Given the description of an element on the screen output the (x, y) to click on. 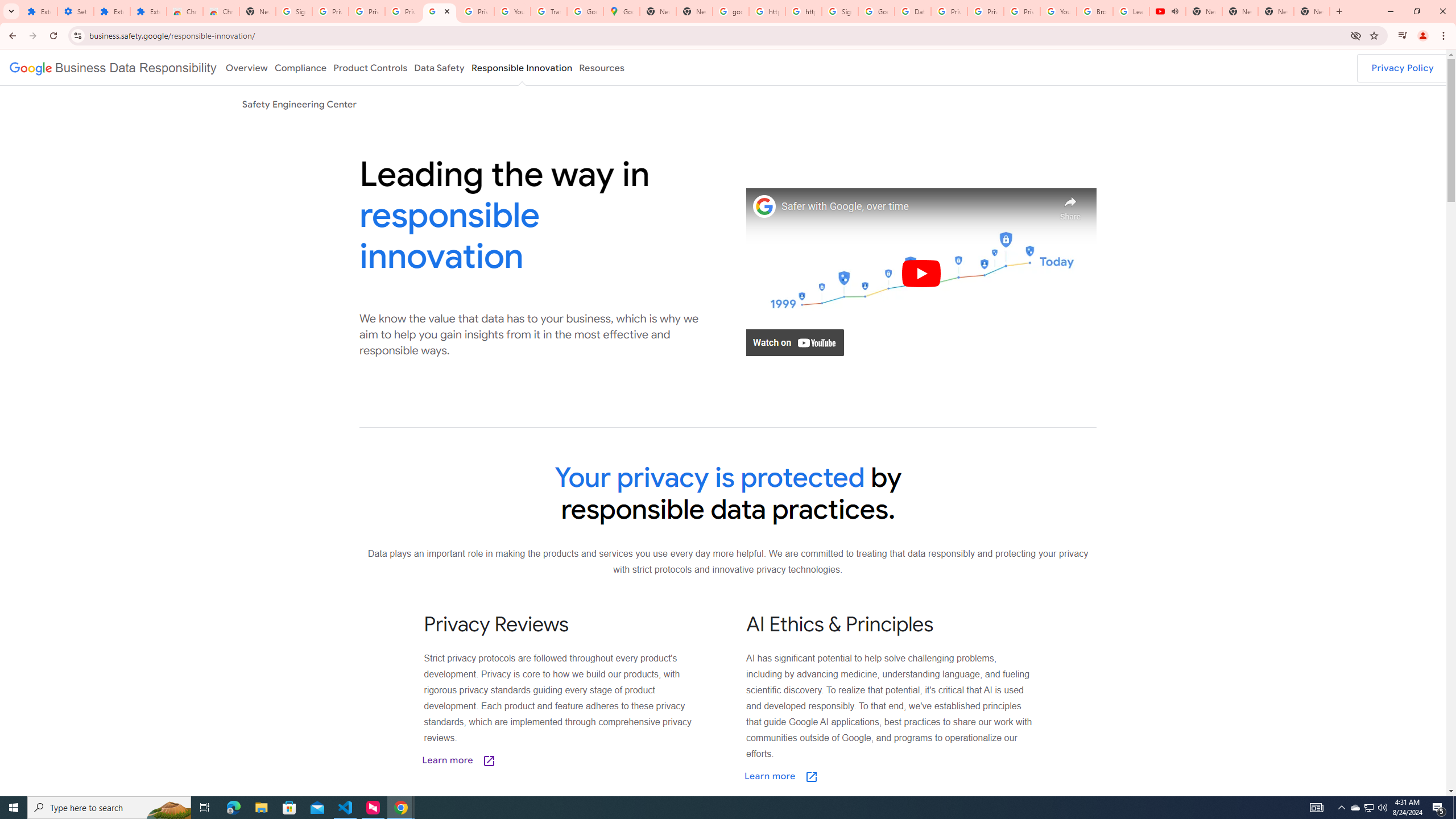
Resources (601, 67)
Share (1070, 205)
Product Controls (370, 67)
Google Maps (621, 11)
Compliance (300, 67)
Learn more  (837, 776)
Play (921, 273)
Google logo (112, 67)
